Given the description of an element on the screen output the (x, y) to click on. 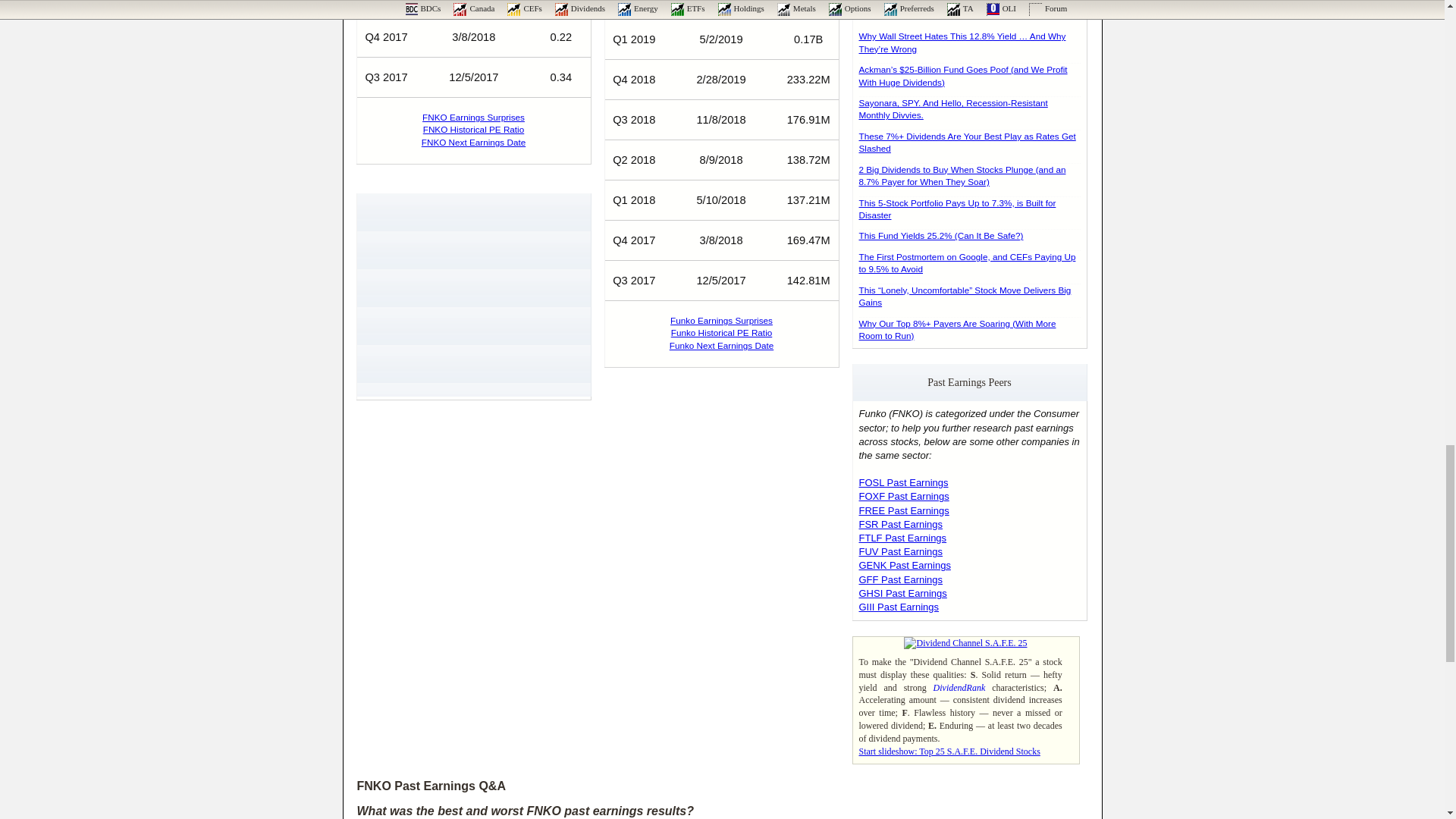
FNKO Next Earnings Date (473, 142)
Funko Next Earnings Date (721, 345)
Funko Historical PE Ratio (722, 332)
FNKO Earnings Surprises (473, 117)
Funko Earnings Surprises (721, 320)
FNKO Historical PE Ratio (473, 129)
